Given the description of an element on the screen output the (x, y) to click on. 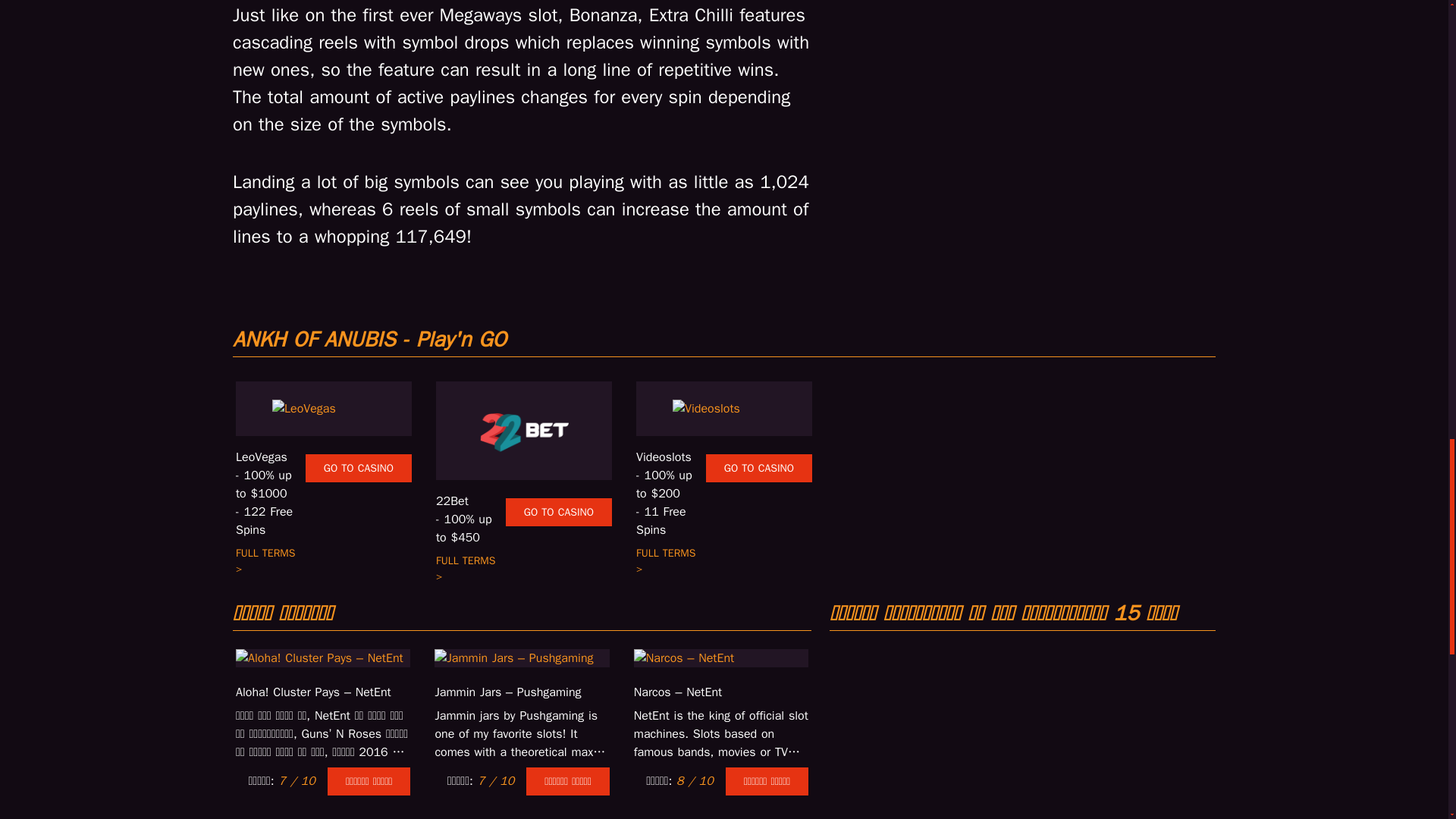
GO TO CASINO (558, 511)
LeoVegas (270, 456)
GO TO CASINO (358, 468)
22Bet (470, 501)
GO TO CASINO (759, 468)
Videoslots (671, 456)
